Given the description of an element on the screen output the (x, y) to click on. 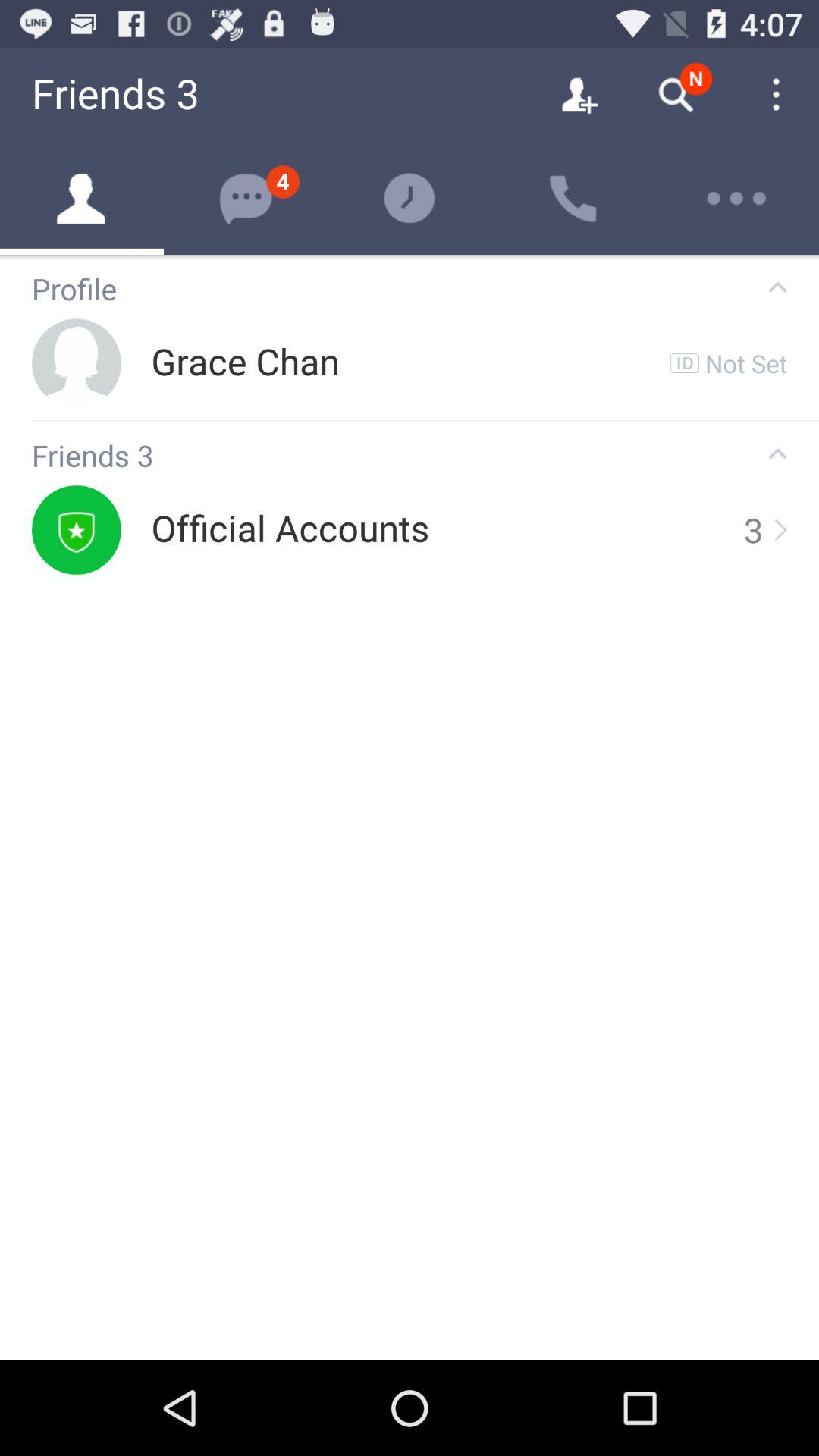
select the app above friends 3 icon (425, 420)
